Given the description of an element on the screen output the (x, y) to click on. 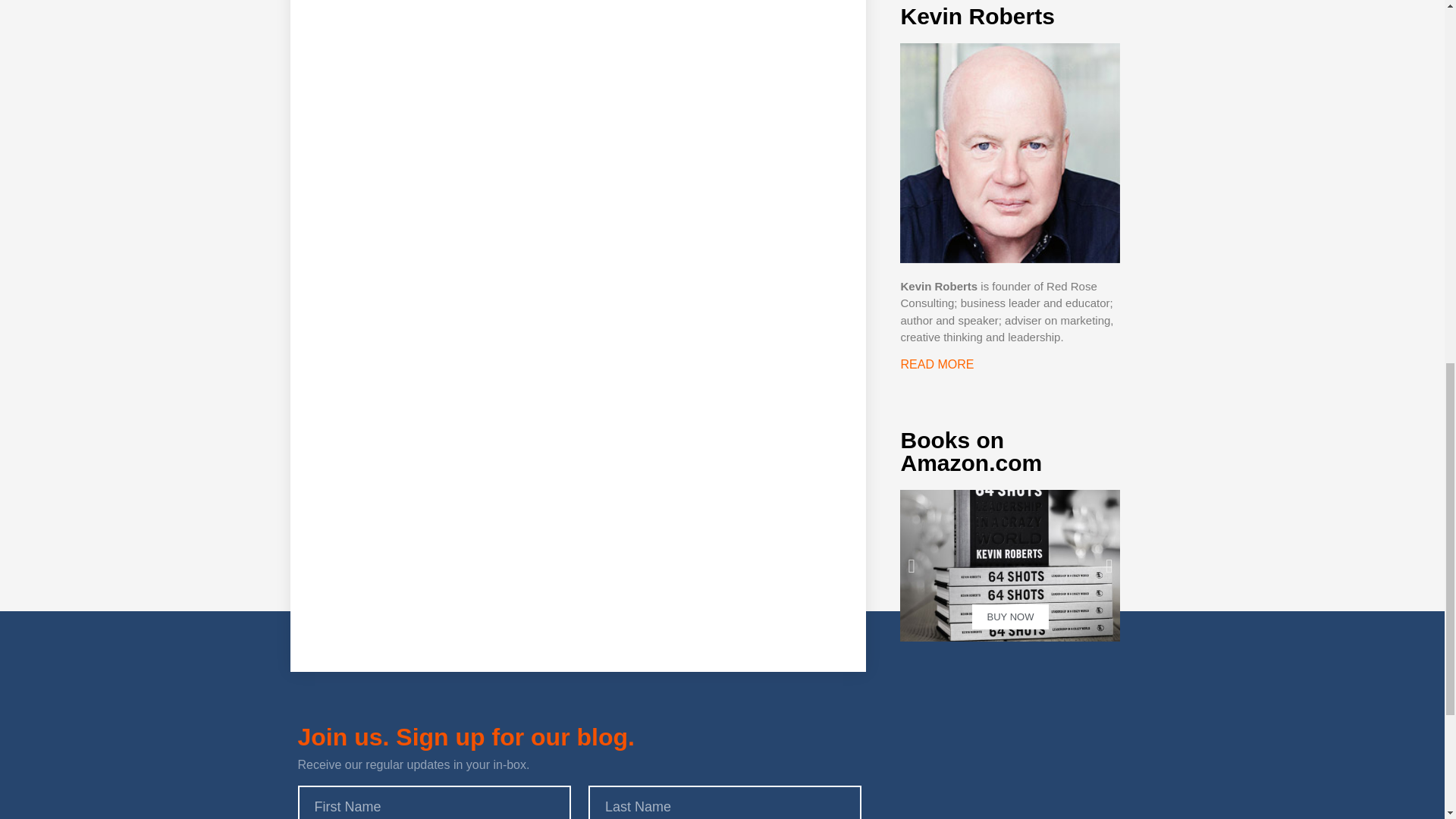
BUY NOW (1009, 565)
READ MORE (936, 364)
